Given the description of an element on the screen output the (x, y) to click on. 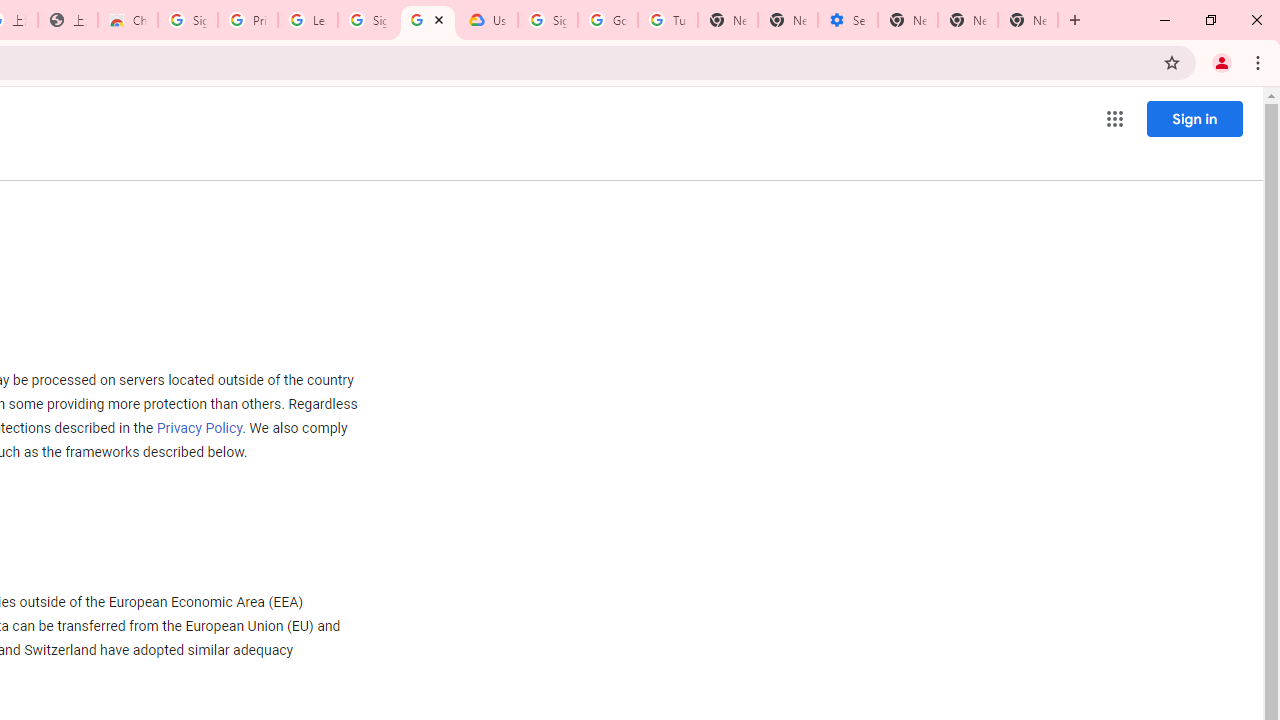
Settings - Addresses and more (847, 20)
New Tab (1028, 20)
Sign in - Google Accounts (187, 20)
New Tab (908, 20)
